Given the description of an element on the screen output the (x, y) to click on. 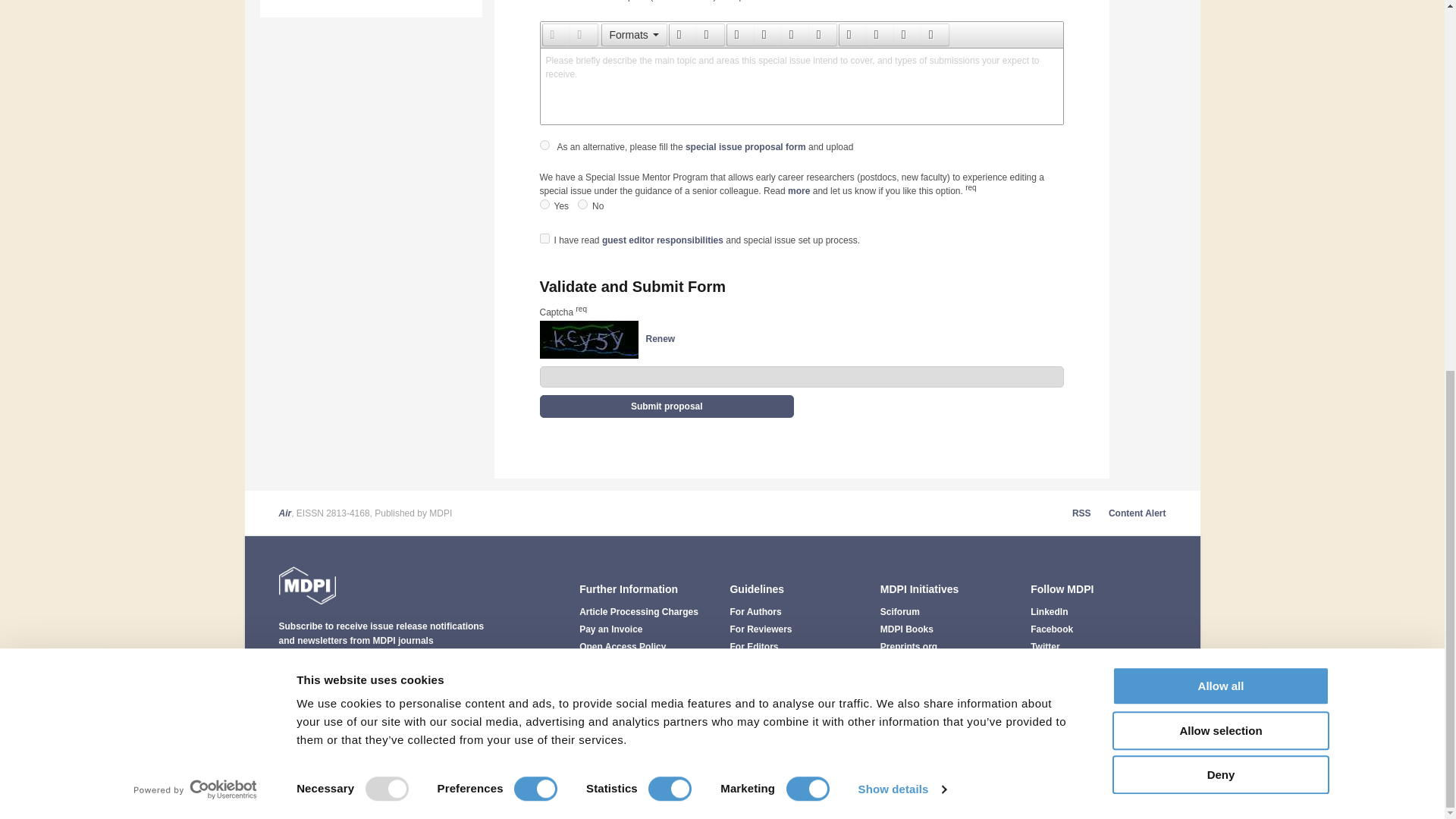
1 (545, 204)
Show details (900, 115)
on (545, 238)
1 (545, 144)
0 (583, 204)
